Given the description of an element on the screen output the (x, y) to click on. 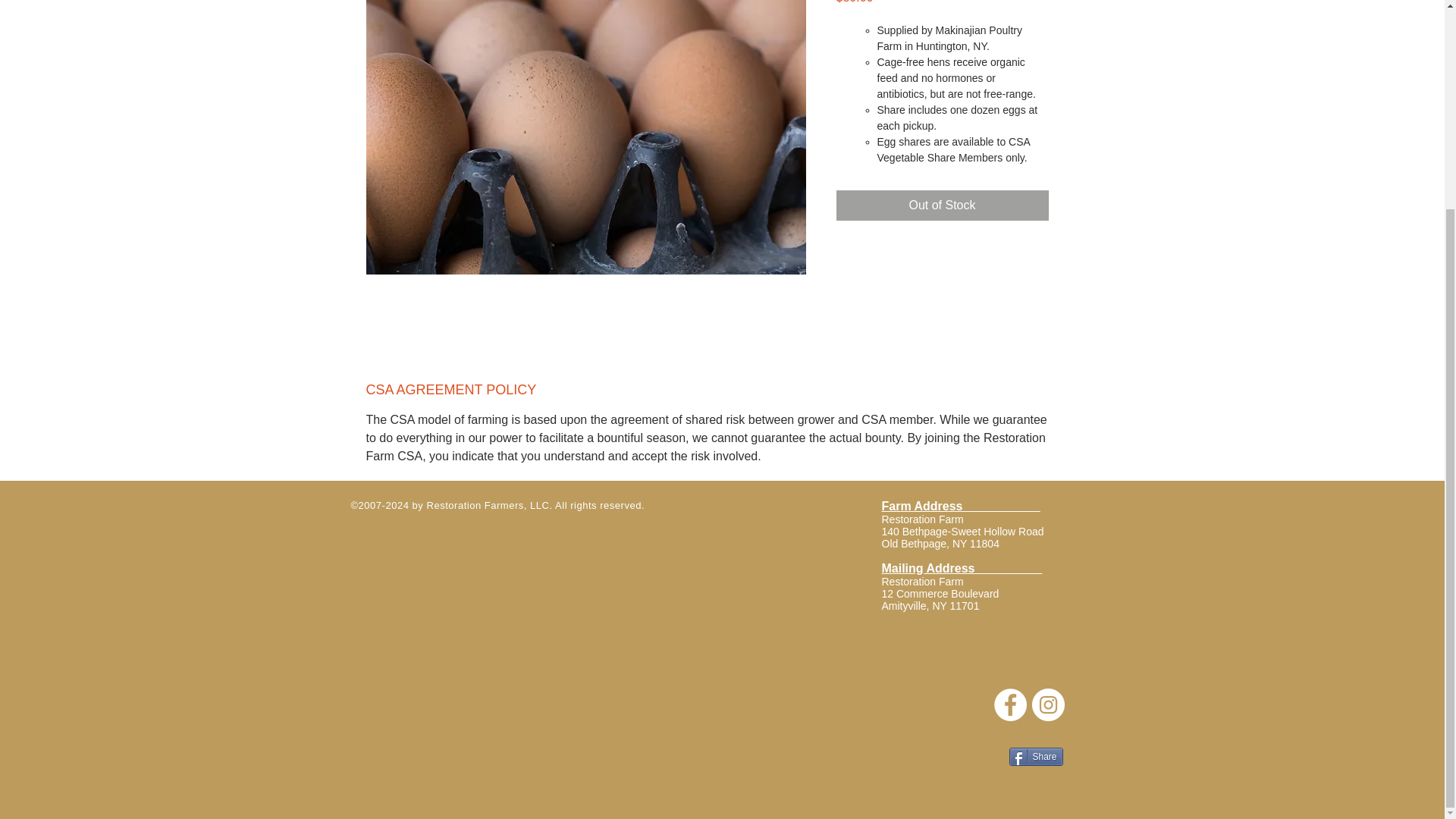
Out of Stock (941, 205)
Mailing Address                     (961, 567)
Share (1035, 756)
Farm Address                        (939, 587)
